Given the description of an element on the screen output the (x, y) to click on. 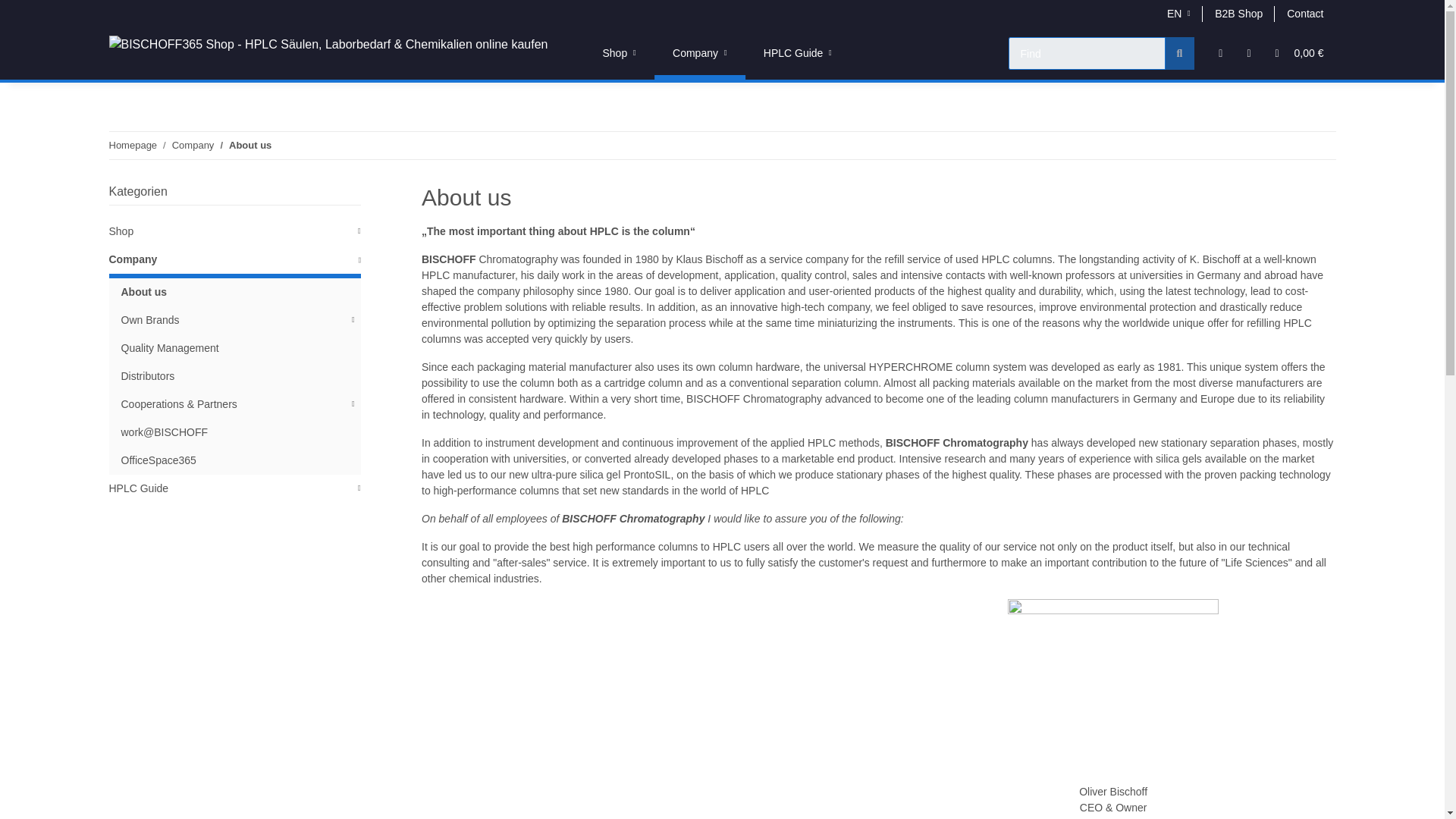
Company (192, 145)
EN (1178, 13)
Company (699, 53)
Shop (789, 62)
Contact-Form (618, 53)
Shop (1305, 13)
B2B Shop Information bischoff365 (618, 53)
Company (1238, 13)
Contact (699, 53)
Shop (1305, 13)
B2B Shop (618, 53)
HPLC Guide (1238, 13)
Company (789, 53)
